Given the description of an element on the screen output the (x, y) to click on. 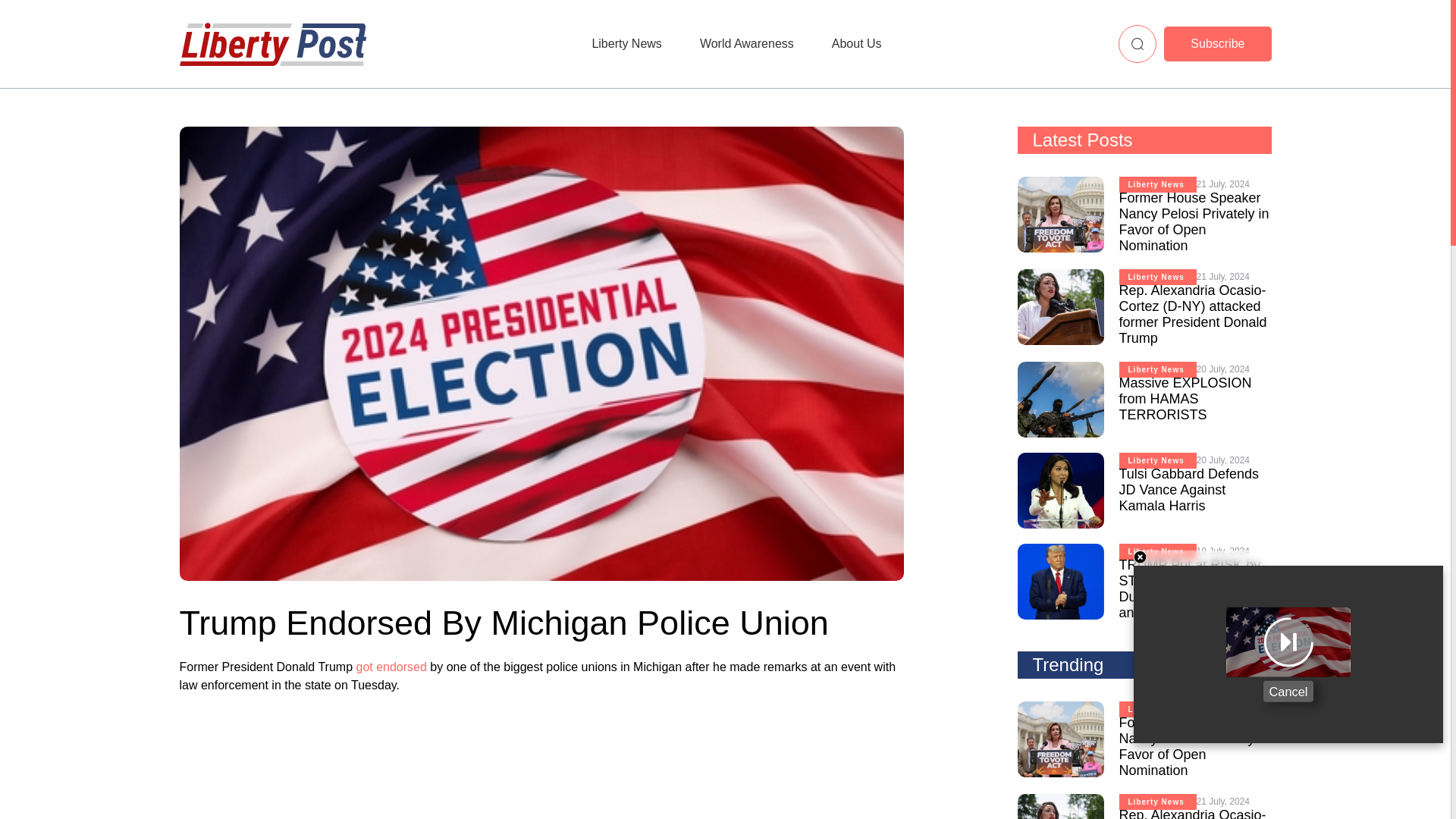
World Awareness (746, 43)
About Us (856, 43)
Subscribe (1217, 43)
got endorsed (392, 666)
Cancel (1288, 690)
Liberty News (626, 43)
